Given the description of an element on the screen output the (x, y) to click on. 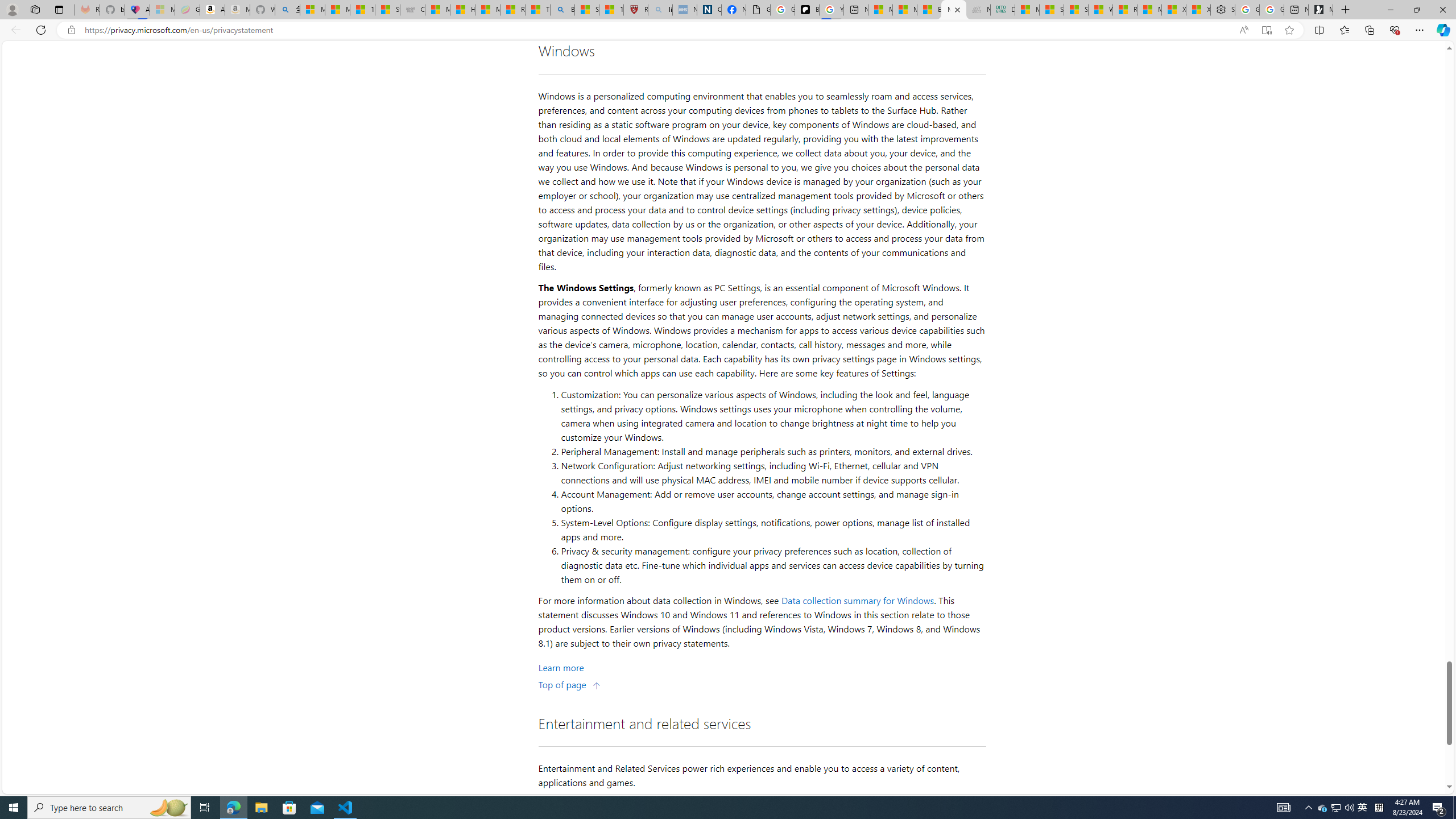
How I Got Rid of Microsoft Edge's Unnecessary Features (462, 9)
Entertainment - MSN (929, 9)
R******* | Trusted Community Engagement and Contributions (1124, 9)
